Given the description of an element on the screen output the (x, y) to click on. 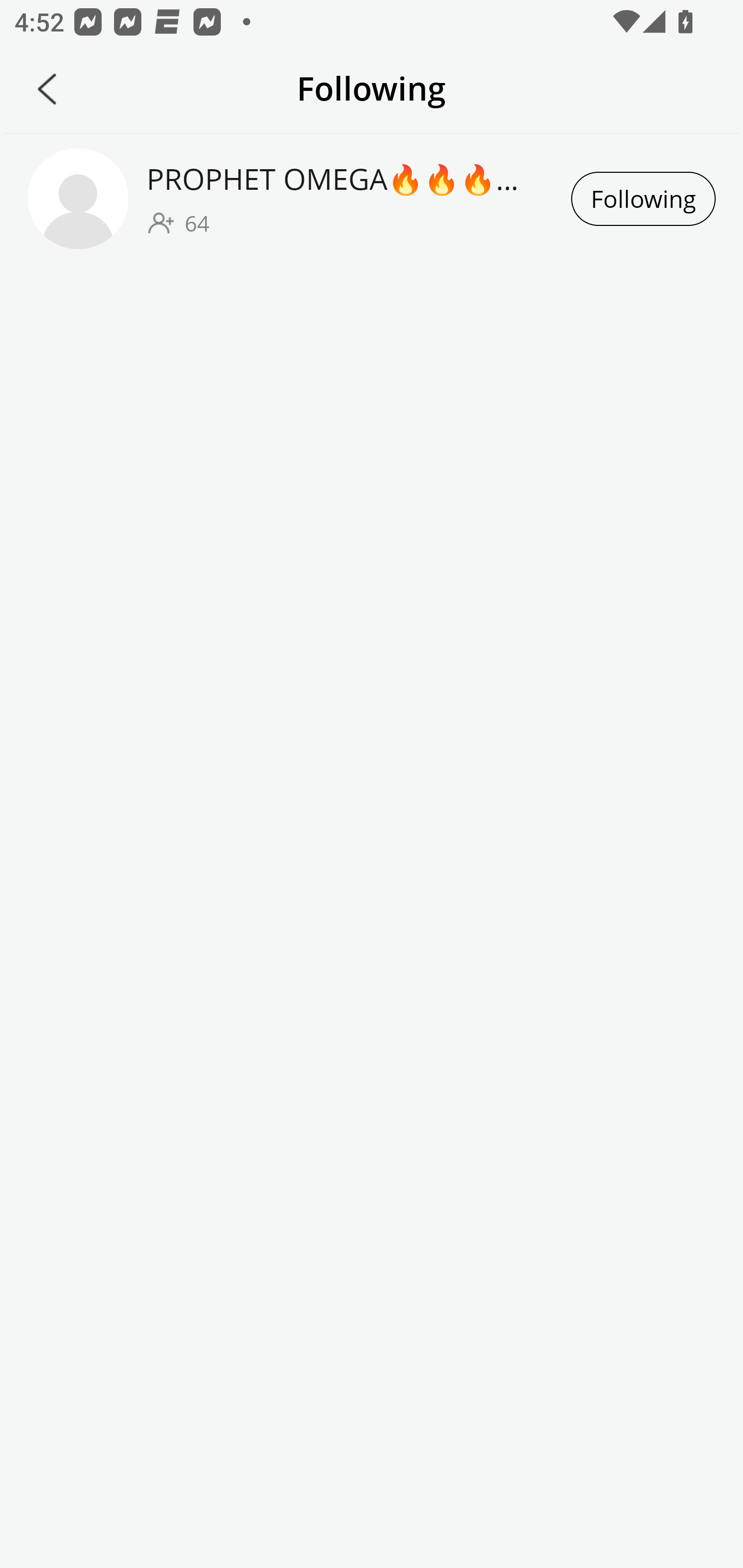
Back (46, 88)
PROPHET OMEGA🔥🔥🔥🔥🔥 64 Following (371, 198)
Following (643, 198)
